Given the description of an element on the screen output the (x, y) to click on. 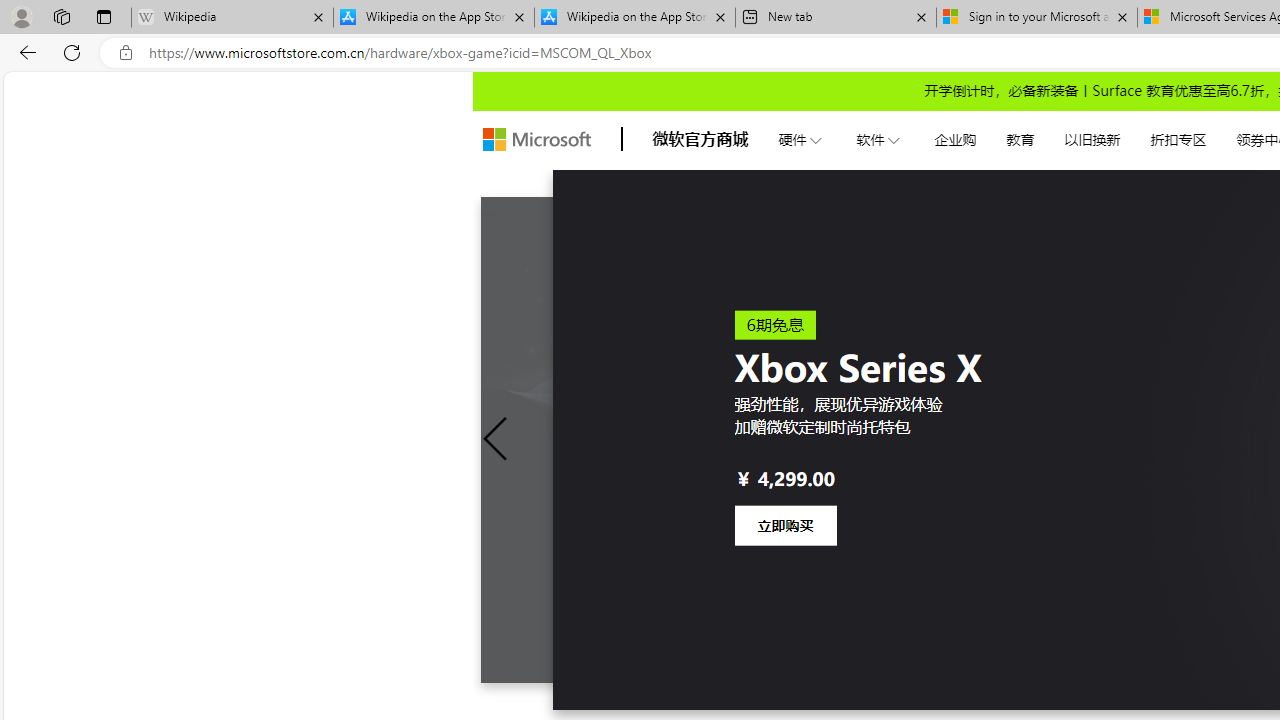
Previous slide (495, 439)
store logo (536, 139)
Wikipedia - Sleeping (231, 17)
Sign in to your Microsoft account (1036, 17)
